Given the description of an element on the screen output the (x, y) to click on. 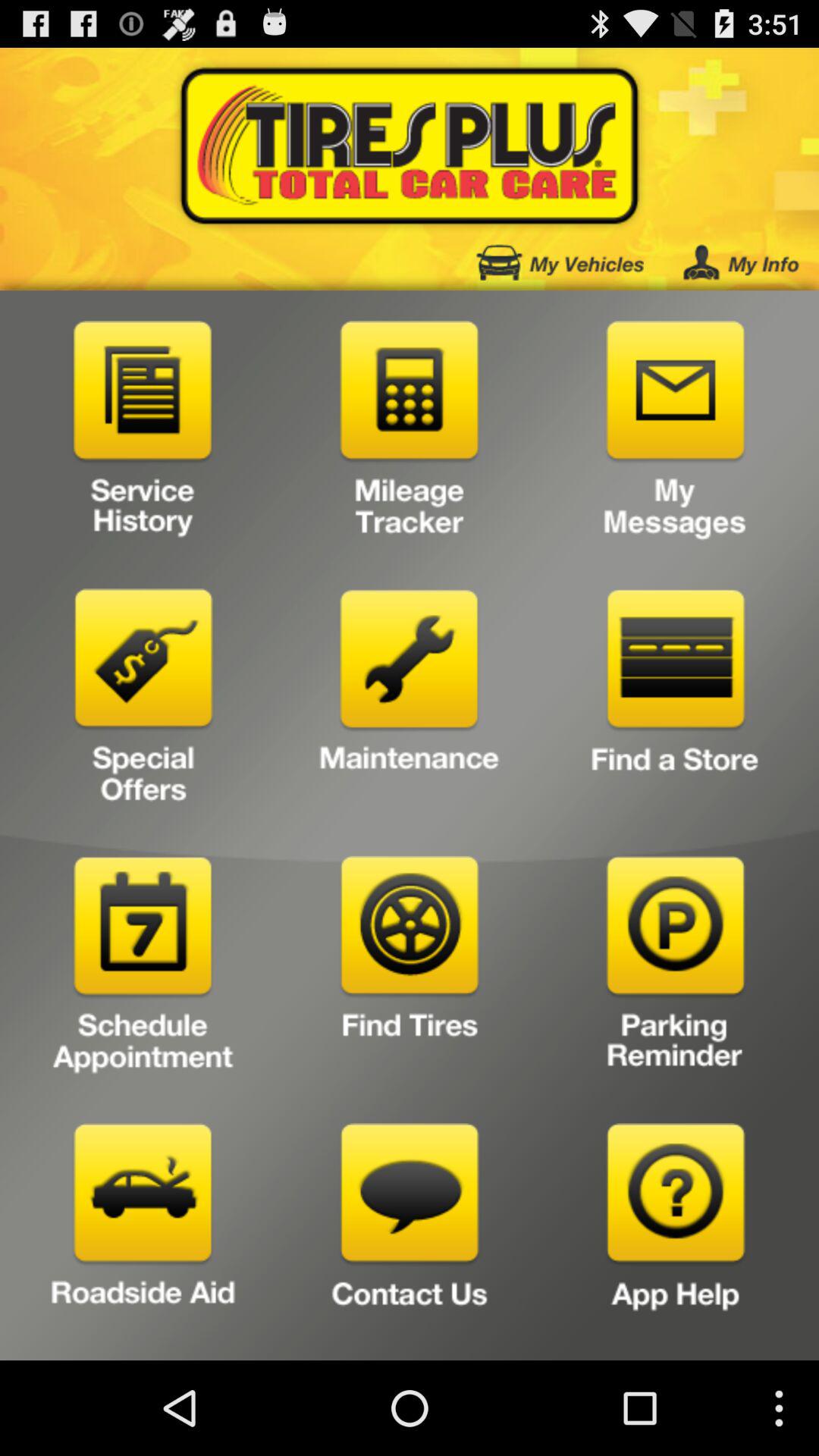
mileage tracker option (409, 434)
